Given the description of an element on the screen output the (x, y) to click on. 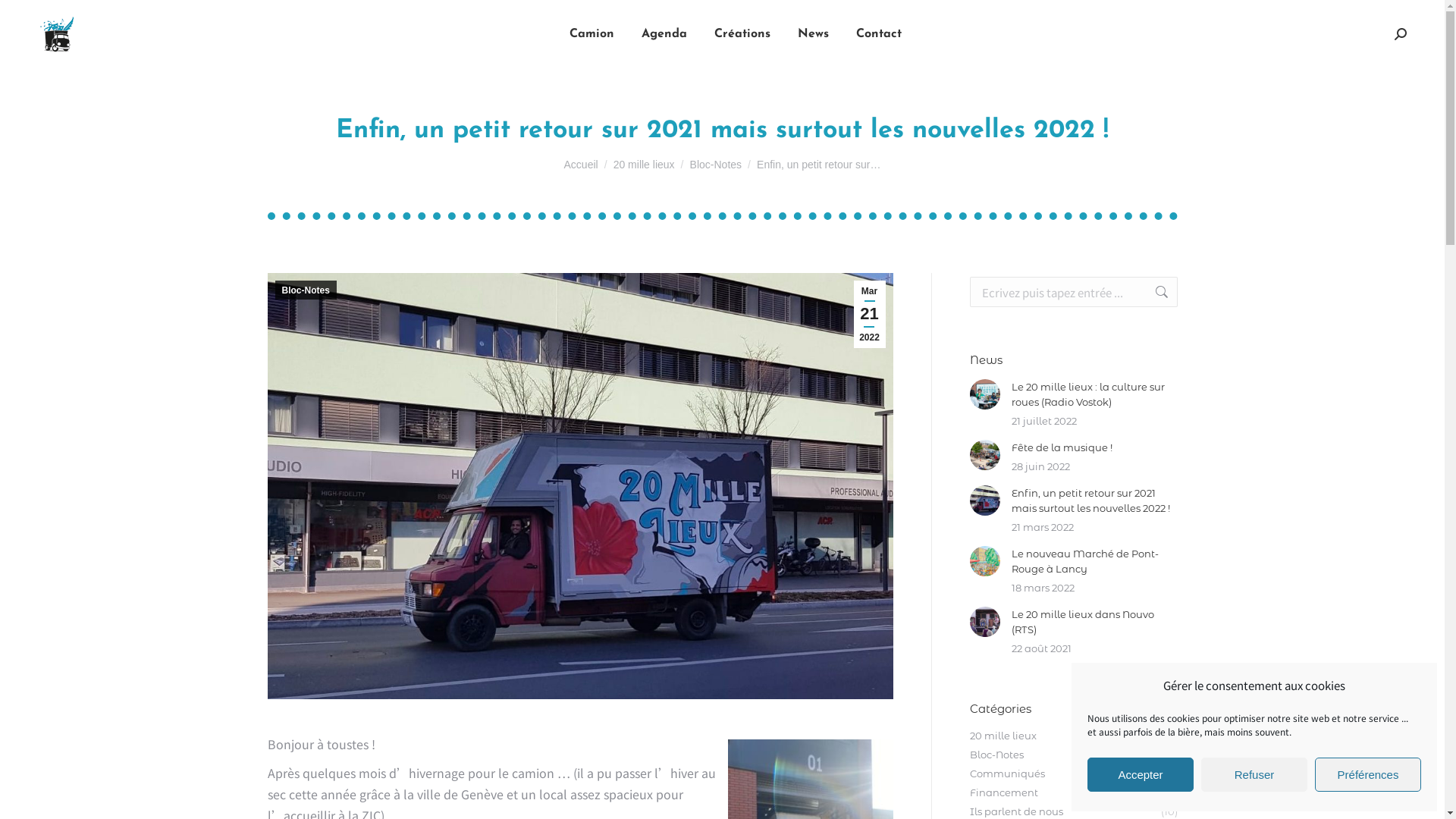
Refuser Element type: text (1254, 774)
Contact Element type: text (877, 33)
image1 (3) Element type: hover (579, 486)
Accueil Element type: text (581, 164)
Bloc-Notes Element type: text (715, 164)
News Element type: text (812, 33)
Accepter Element type: text (1140, 774)
Aller ! Element type: text (30, 16)
Le 20 mille lieux : la culture sur roues (Radio Vostok) Element type: text (1094, 394)
Aller ! Element type: text (1154, 291)
Instagram page opens in new window Element type: text (323, 605)
Le 20 mille lieux : la culture sur roues (Radio Vostok) Element type: text (742, 541)
Login Element type: text (1163, 767)
Le 20 mille lieux dans Nouvo (RTS) Element type: text (1094, 621)
Camion Element type: text (590, 33)
Presse Element type: text (1121, 767)
Facebook page opens in new window Element type: text (278, 605)
Swiss Media Tools Element type: text (508, 766)
ZekoDesign Element type: text (615, 766)
Mar
21
2022 Element type: text (869, 314)
Bloc-Notes Element type: text (304, 289)
Agenda Element type: text (664, 33)
Twitter page opens in new window Element type: text (300, 605)
20 mille lieux Element type: text (643, 164)
